Given the description of an element on the screen output the (x, y) to click on. 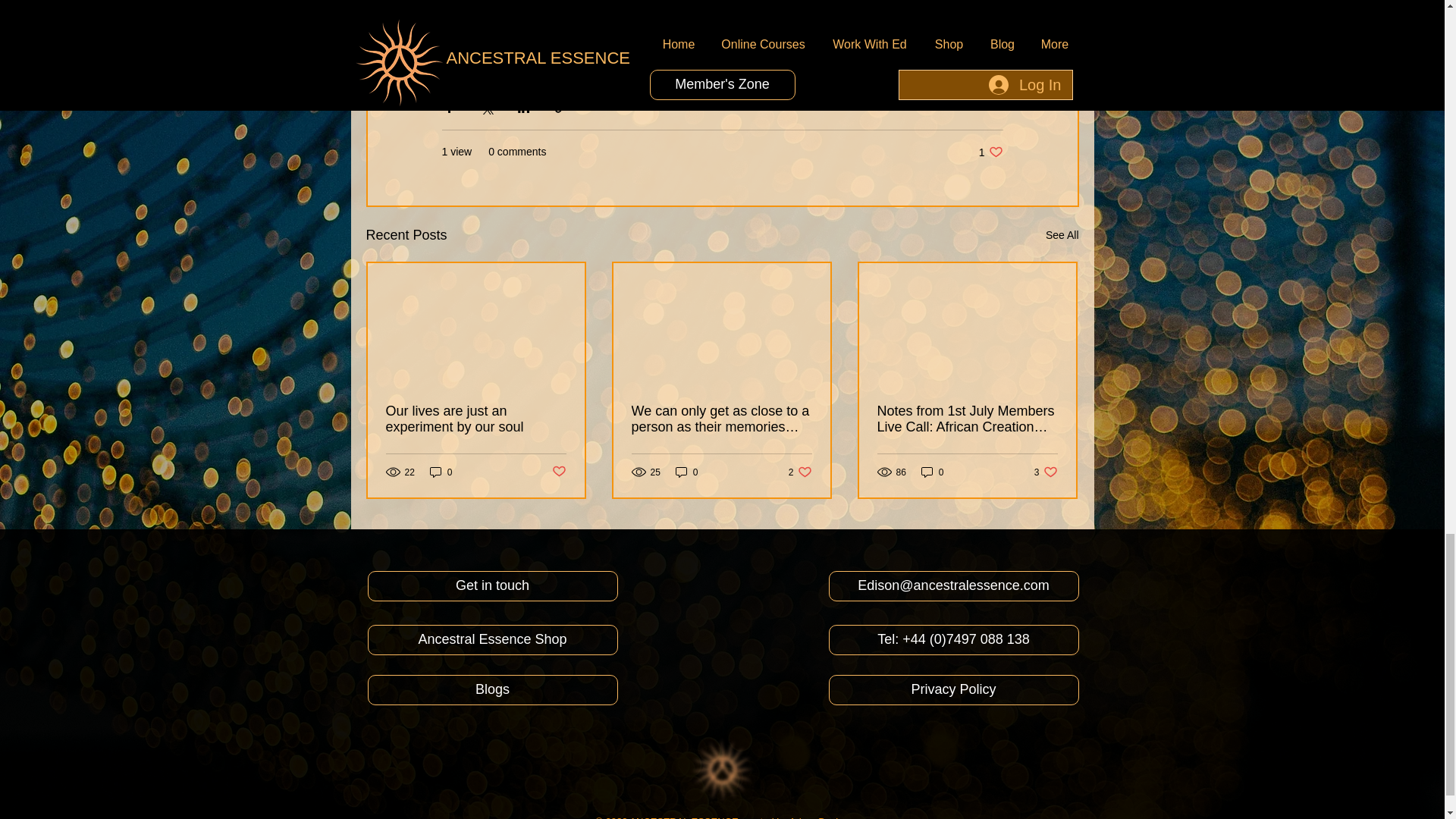
Post not marked as liked (558, 471)
Our lives are just an experiment by our soul (475, 418)
See All (1061, 235)
0 (441, 472)
0 (990, 151)
